Given the description of an element on the screen output the (x, y) to click on. 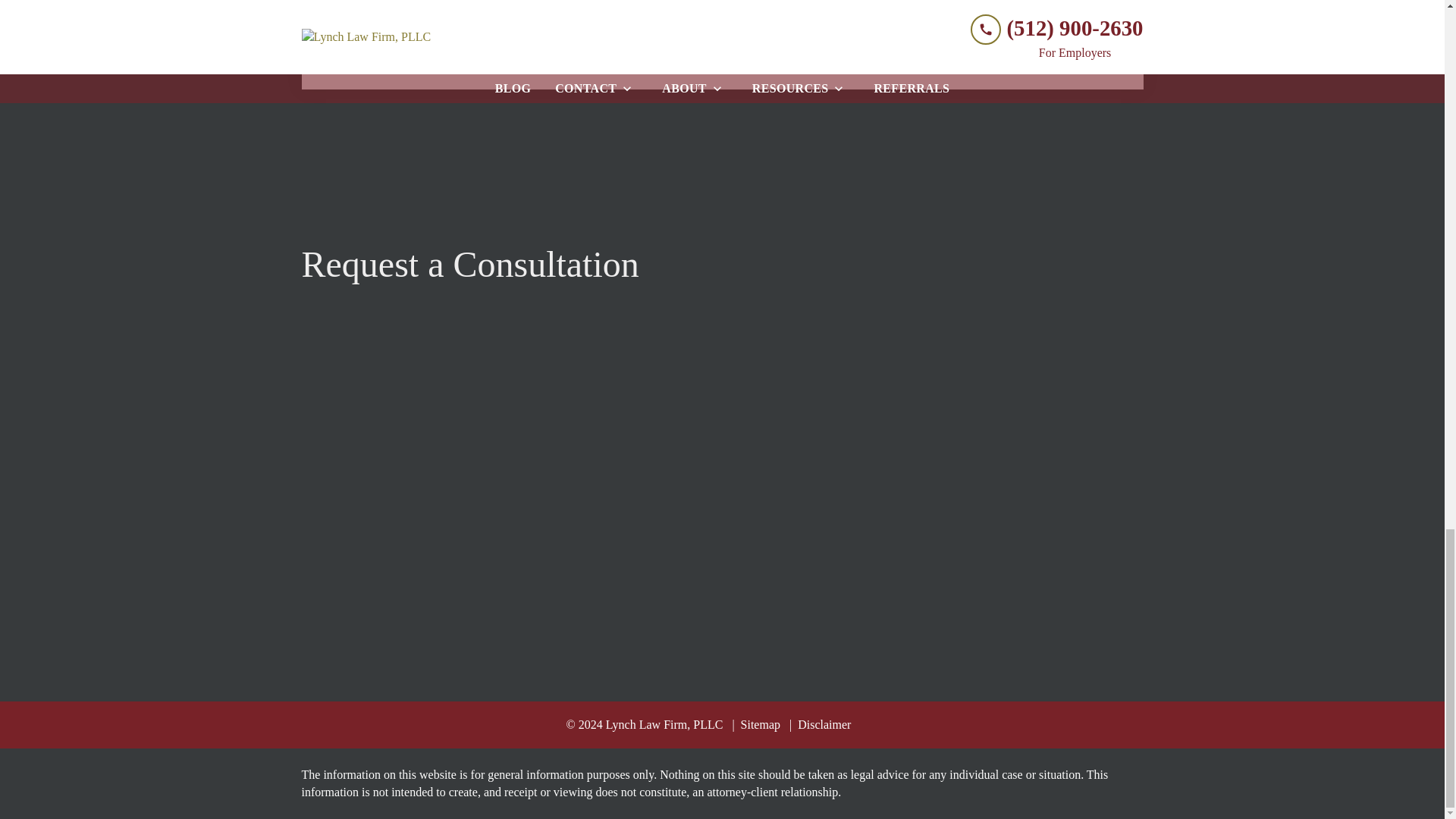
Leave a Review (428, 30)
Get Directions (631, 30)
